Given the description of an element on the screen output the (x, y) to click on. 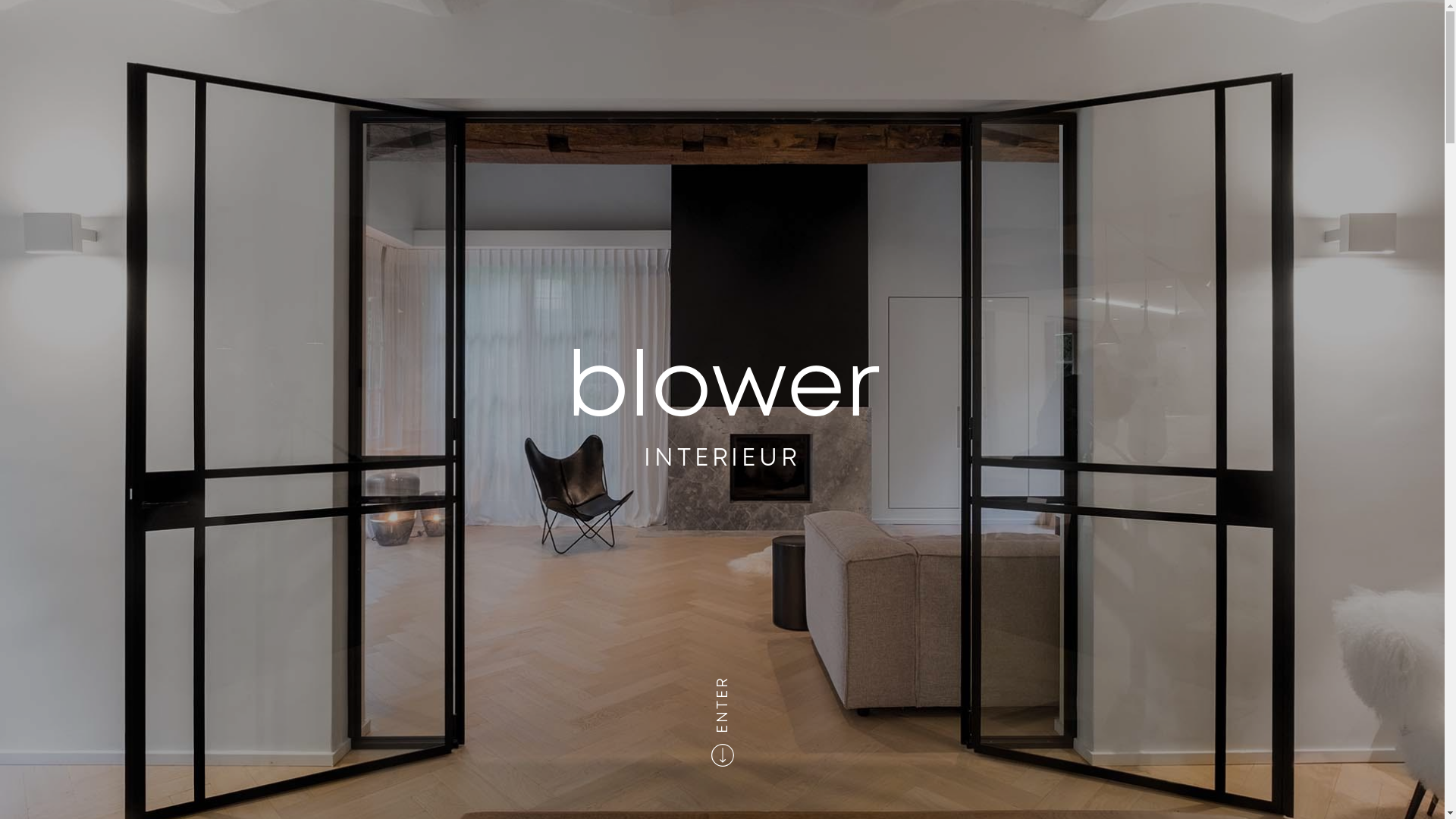
ENTER Element type: text (742, 683)
